Given the description of an element on the screen output the (x, y) to click on. 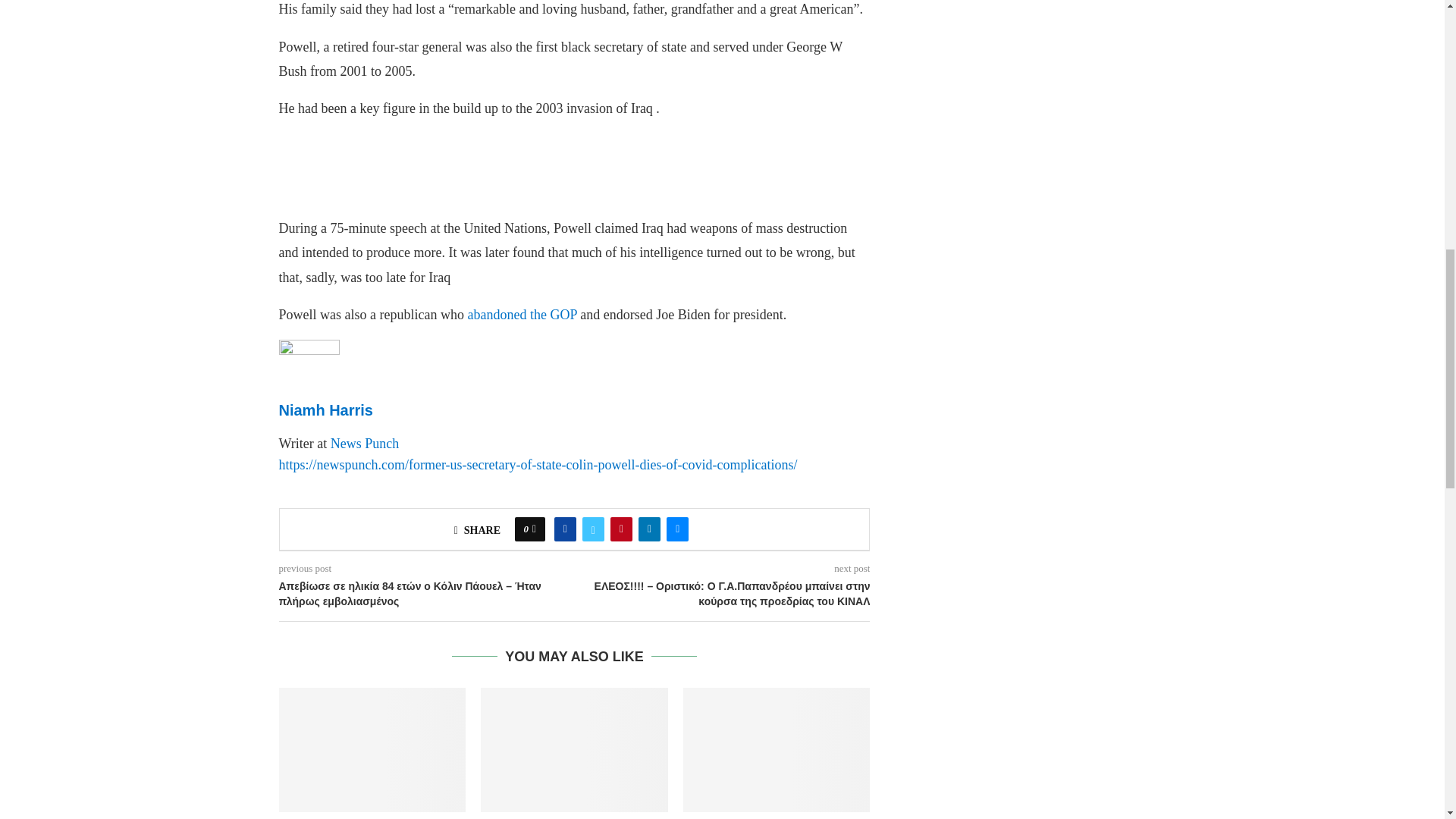
Niamh Harris (309, 350)
